Given the description of an element on the screen output the (x, y) to click on. 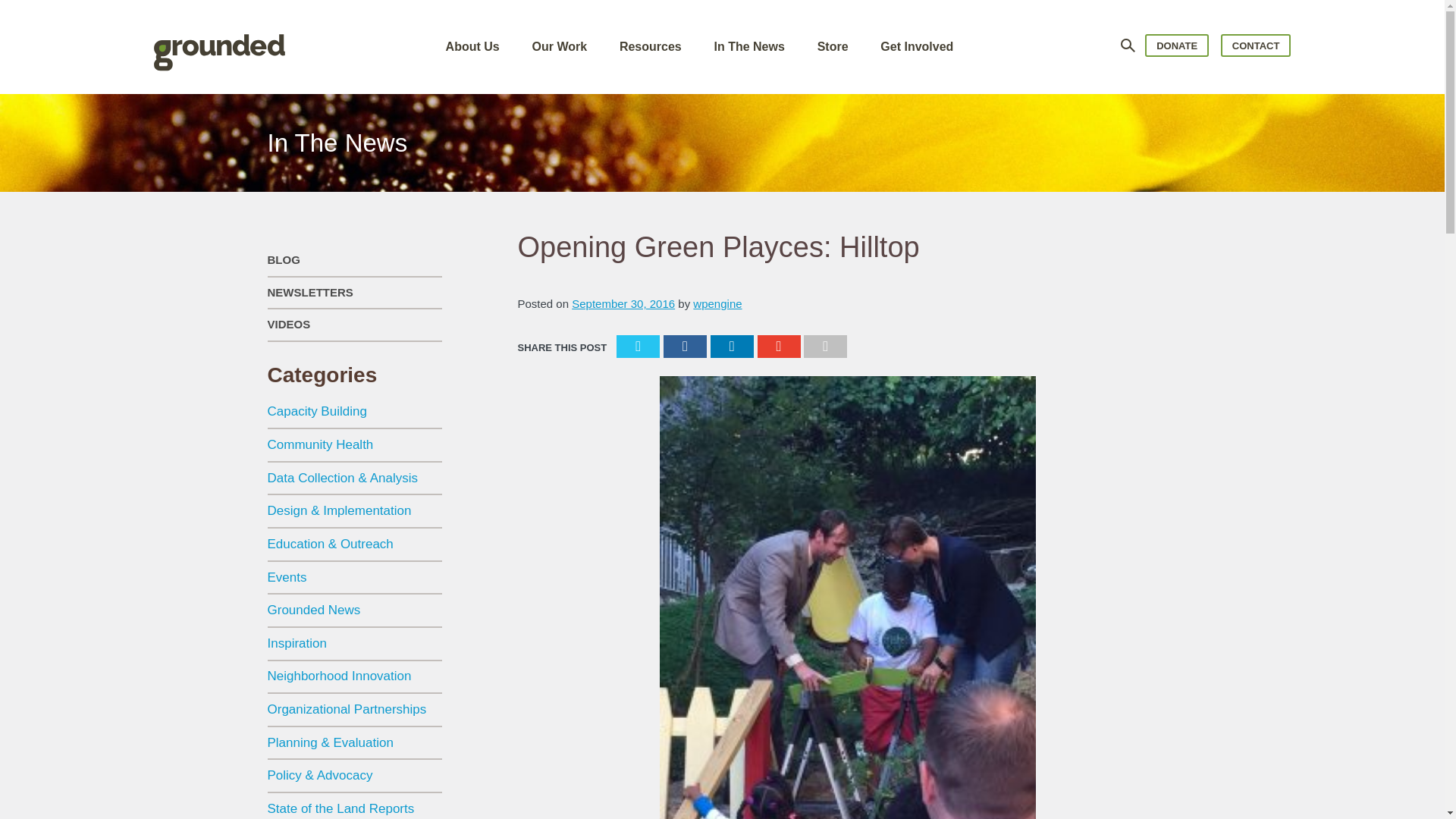
About Us (472, 45)
In The News (748, 45)
Our Work (558, 45)
Resources (650, 45)
